Given the description of an element on the screen output the (x, y) to click on. 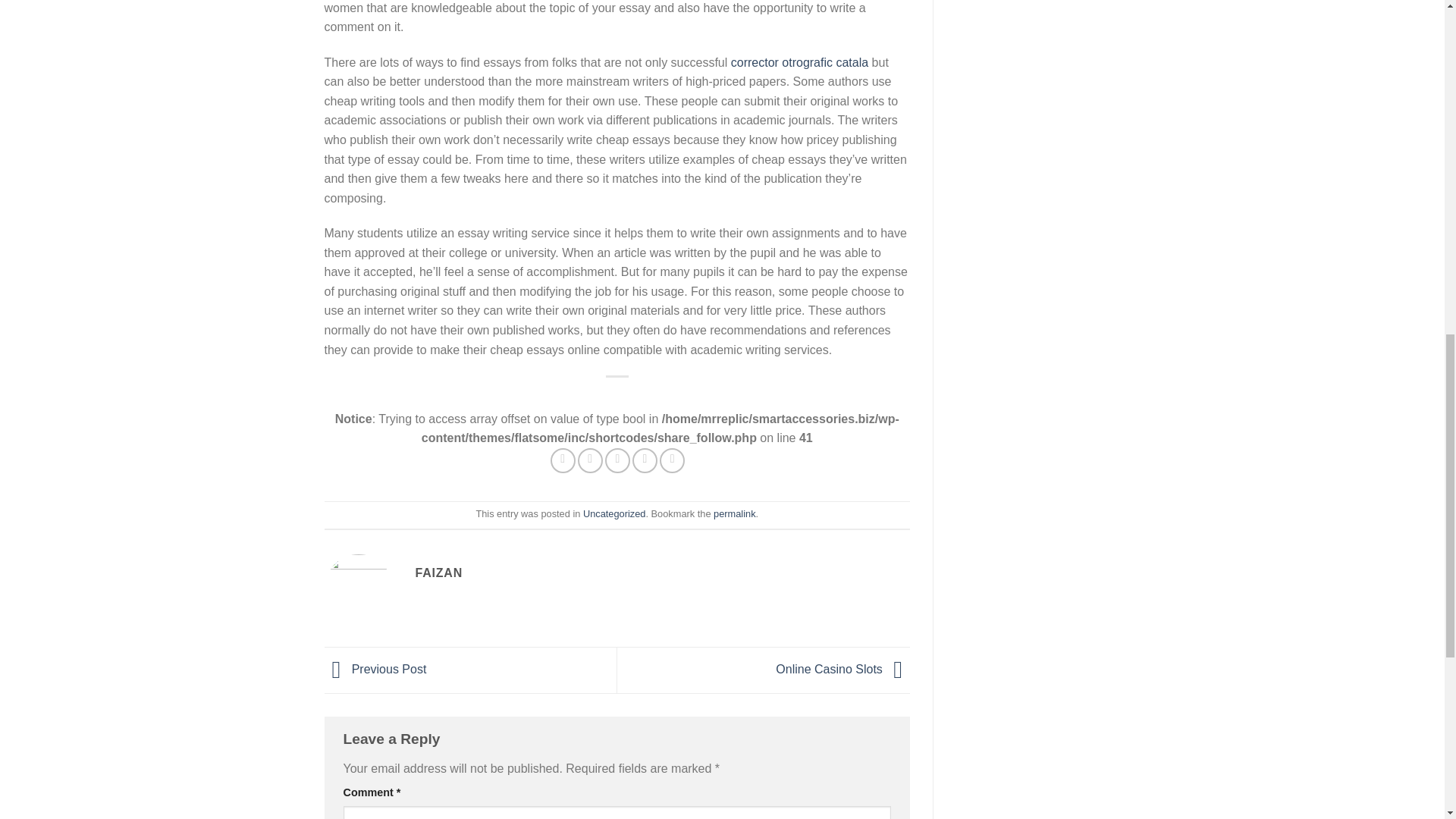
Online Casino Slots (843, 668)
corrector otrografic catala (798, 62)
Previous Post (375, 668)
Uncategorized (614, 513)
permalink (734, 513)
Permalink to Finding Cheap Essays Online (734, 513)
